Given the description of an element on the screen output the (x, y) to click on. 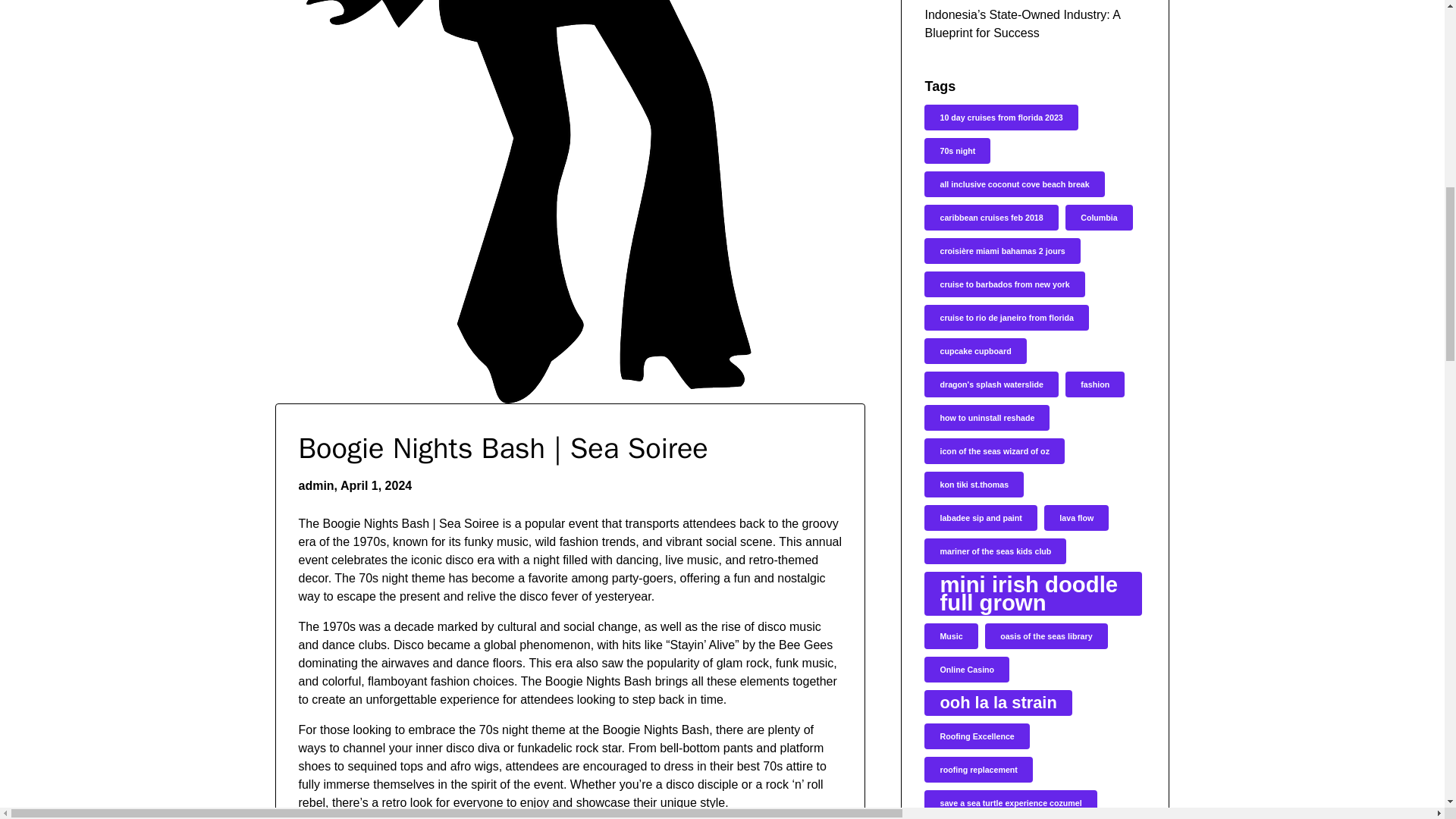
dragon's splash waterslide (991, 384)
70s night (957, 150)
all inclusive coconut cove beach break (1013, 184)
Columbia (1098, 217)
cruise to barbados from new york (1004, 284)
fashion (1094, 384)
10 day cruises from florida 2023 (1000, 117)
cruise to rio de janeiro from florida (1005, 317)
cupcake cupboard (975, 350)
caribbean cruises feb 2018 (991, 217)
April 1, 2024 (376, 485)
